Given the description of an element on the screen output the (x, y) to click on. 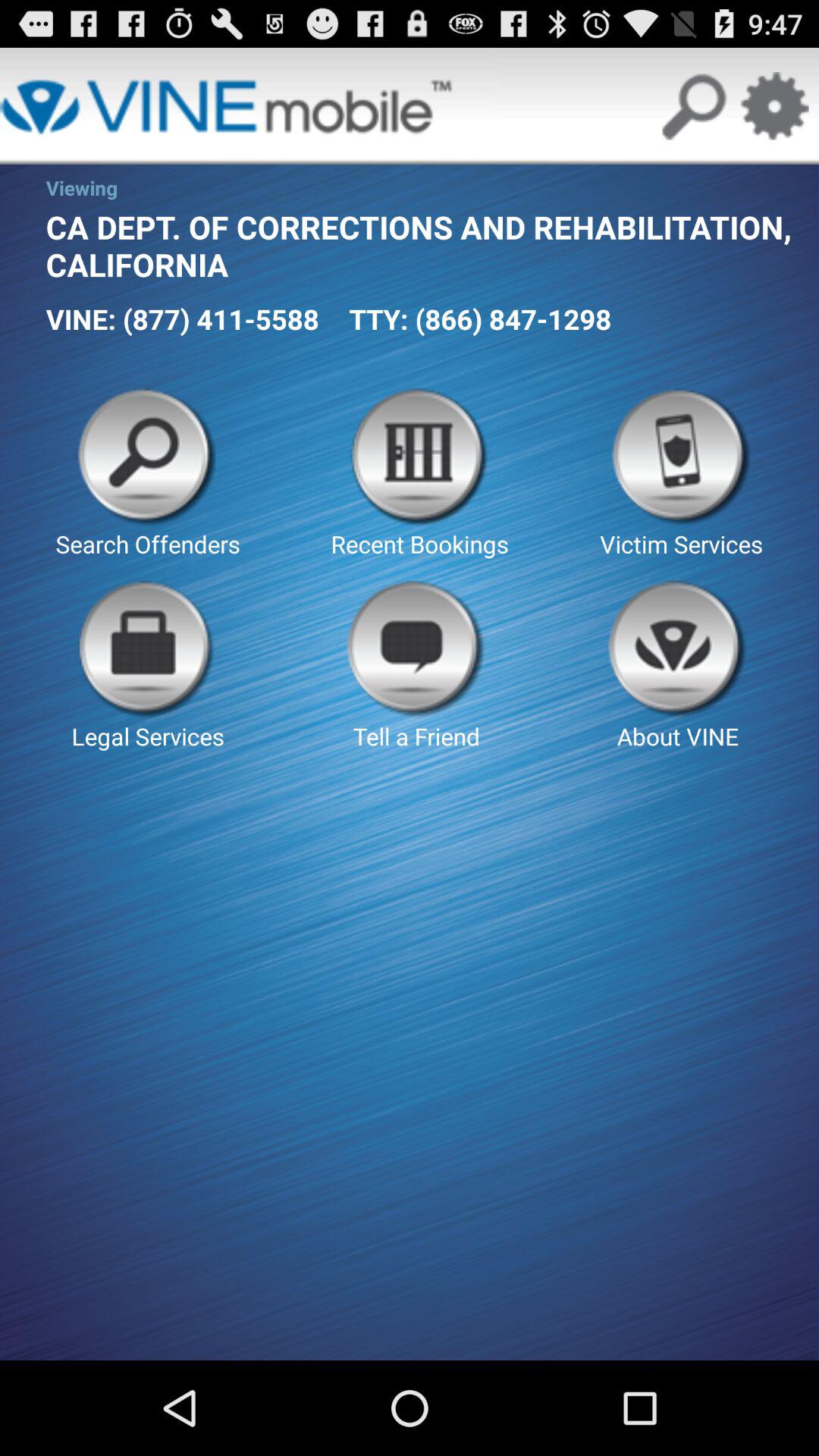
launch the icon above the legal services button (147, 474)
